Given the description of an element on the screen output the (x, y) to click on. 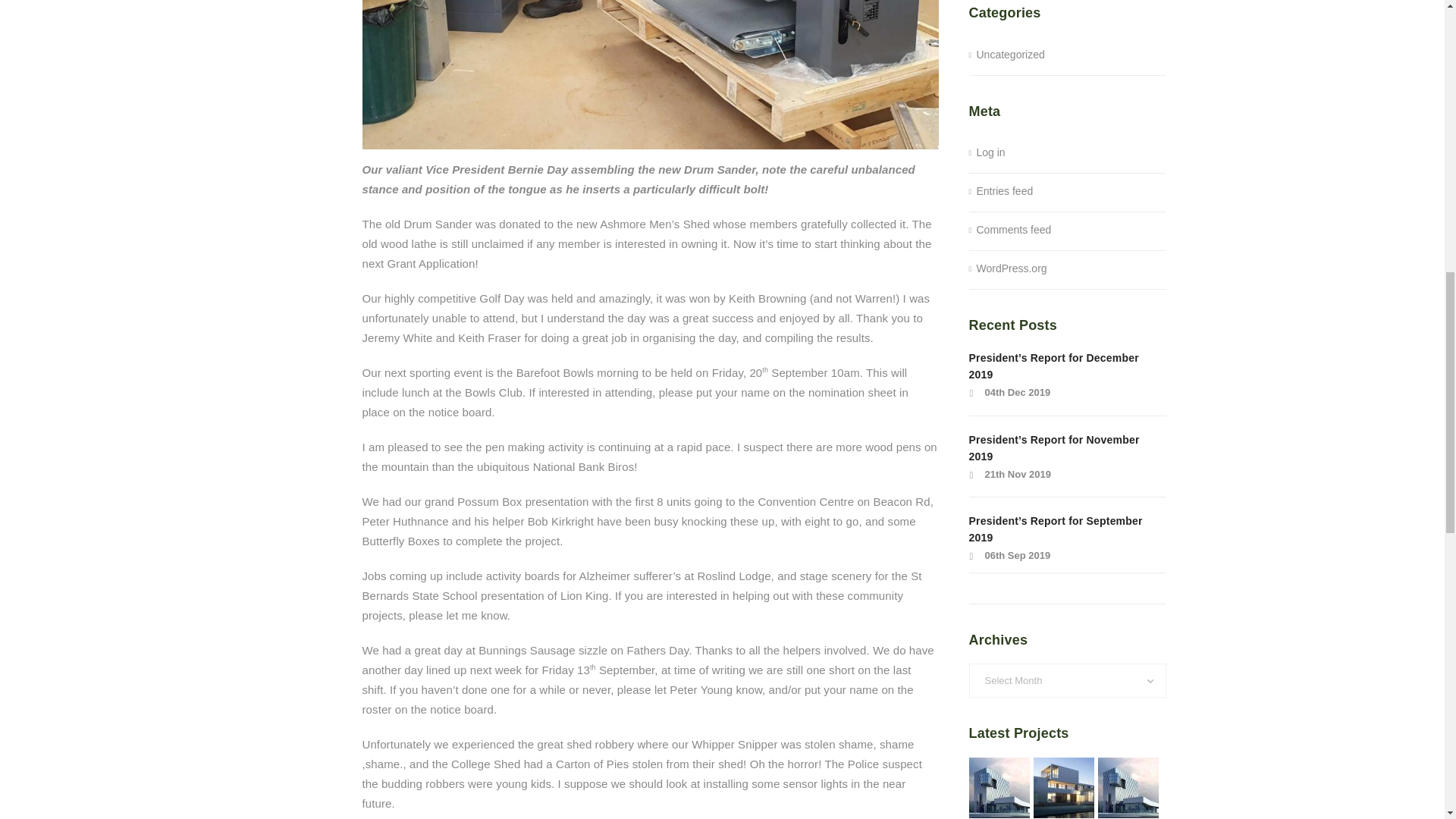
Log in (987, 152)
Uncategorized (1007, 55)
WordPress.org (1007, 268)
Entries feed (1001, 191)
Comments feed (1010, 230)
